Given the description of an element on the screen output the (x, y) to click on. 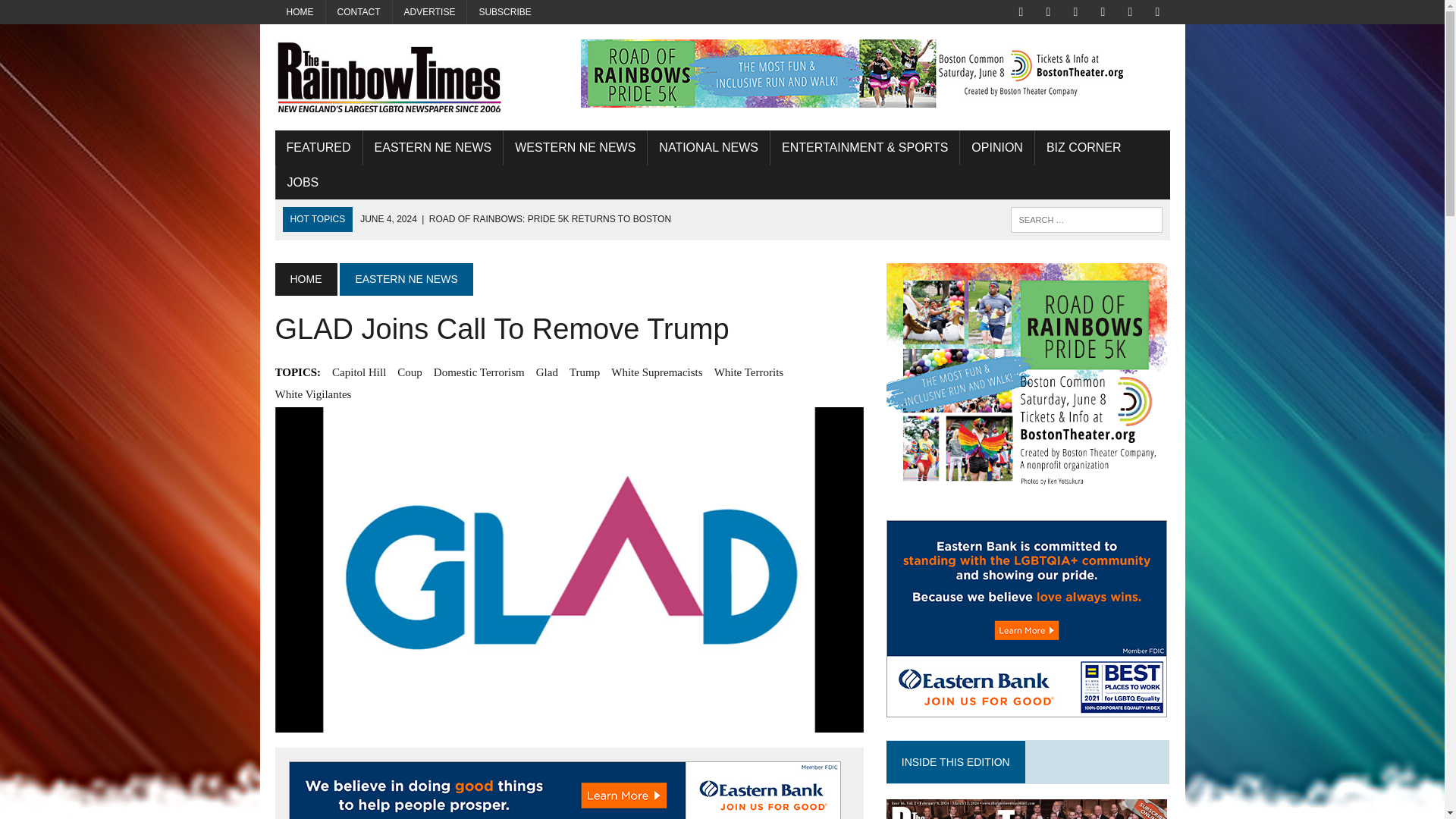
NATIONAL NEWS (708, 147)
EASTERN NE NEWS (432, 147)
HOME (299, 12)
OPINION (996, 147)
CONTACT (358, 12)
FEATURED (318, 147)
SUBSCRIBE (504, 12)
Inside This Edition (1026, 809)
Road Of Rainbows: Pride 5K Returns To Boston (515, 218)
ADVERTISE (430, 12)
